Given the description of an element on the screen output the (x, y) to click on. 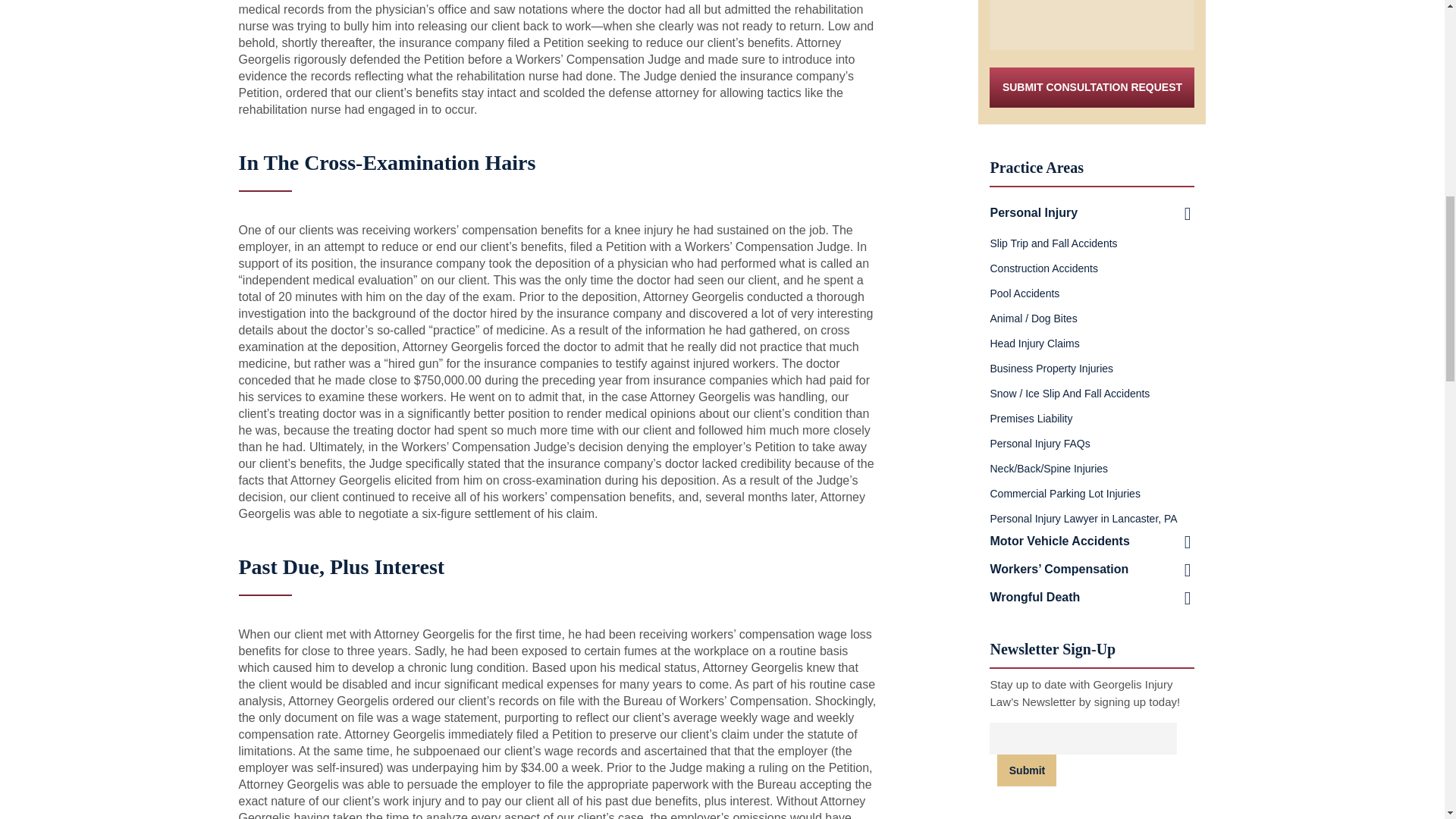
Submit Consultation Request (1091, 87)
Submit (1027, 770)
